Given the description of an element on the screen output the (x, y) to click on. 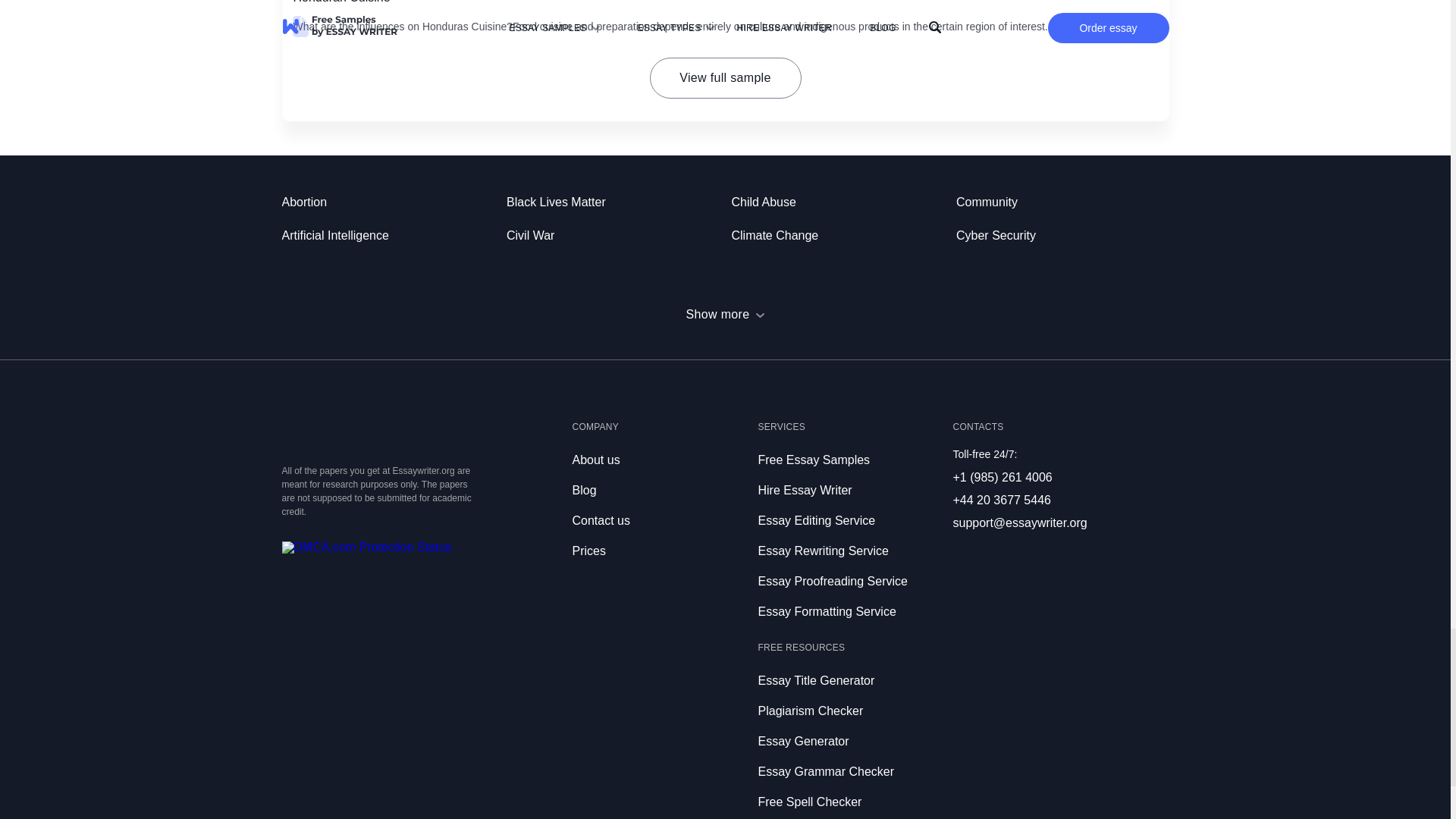
DMCA.com Protection Status (366, 546)
Honduran Cuisine (341, 2)
